Given the description of an element on the screen output the (x, y) to click on. 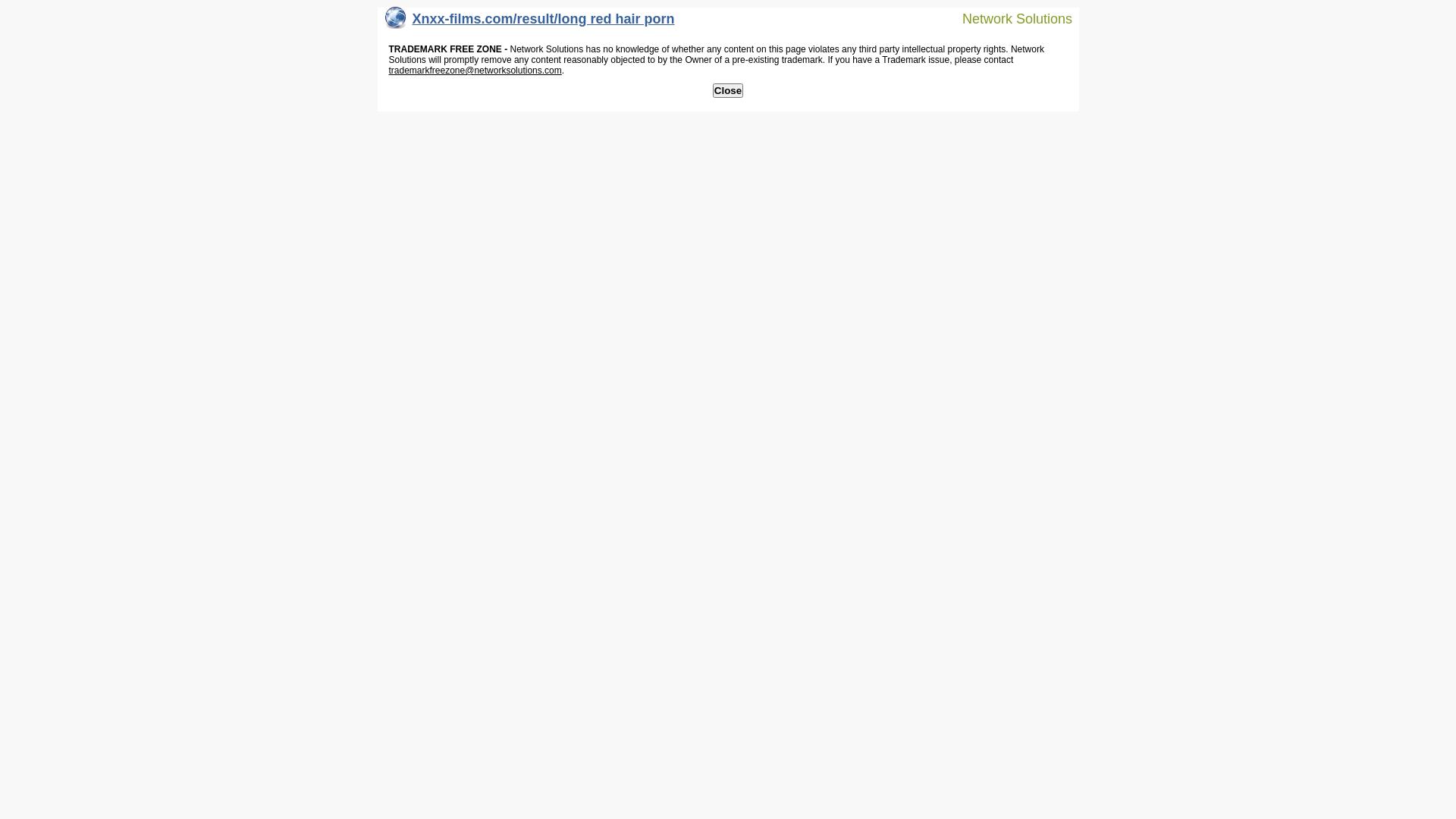
trademarkfreezone@networksolutions.com Element type: text (474, 70)
Xnxx-films.com/result/long red hair porn Element type: text (529, 21)
Network Solutions Element type: text (1007, 17)
Close Element type: text (727, 90)
